Given the description of an element on the screen output the (x, y) to click on. 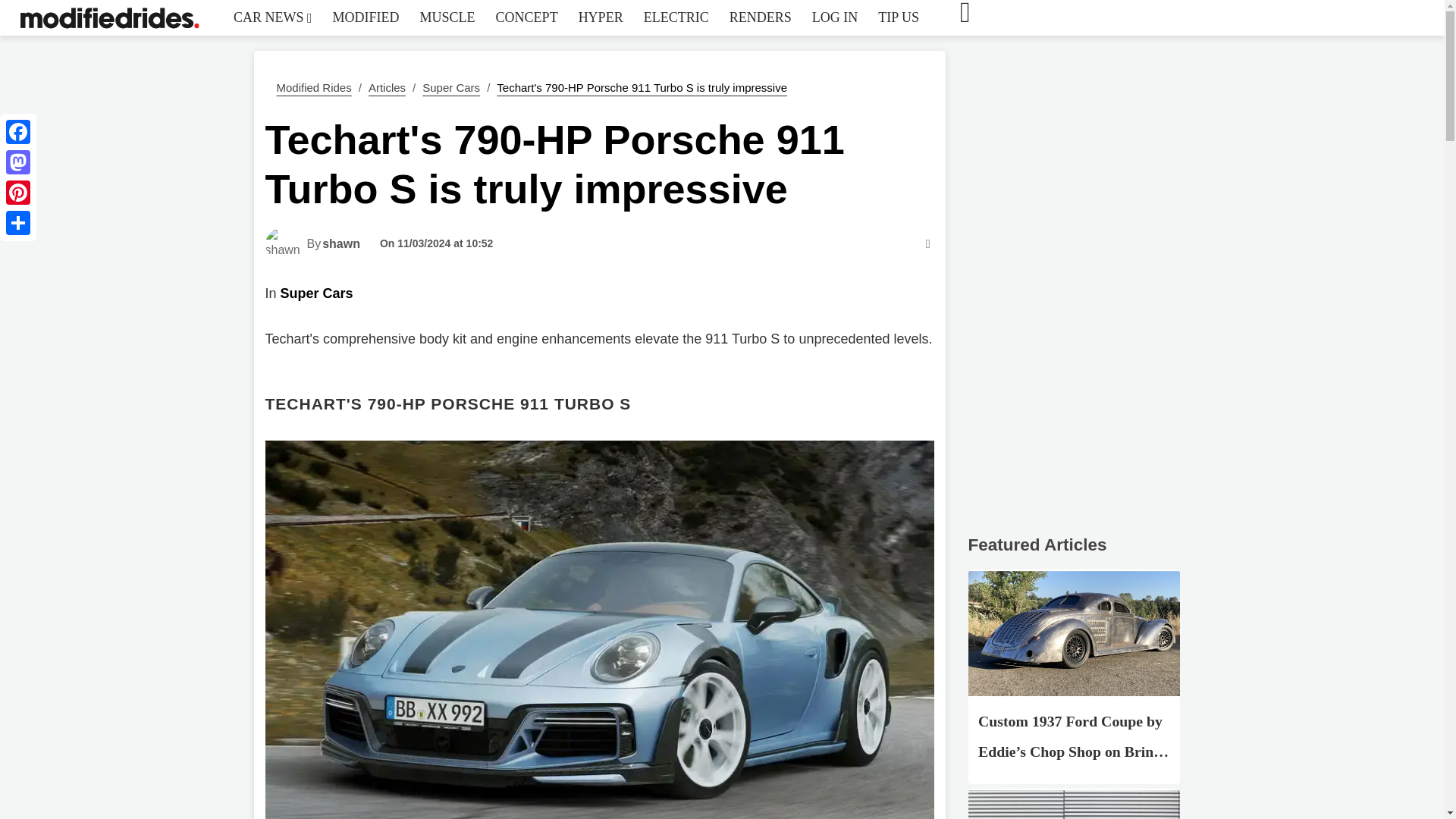
ELECTRIC (676, 17)
MODIFIED (366, 17)
HYPER (601, 17)
LOG IN (834, 17)
Super Cars (451, 87)
Modified Rides (313, 87)
CONCEPT (526, 17)
TIP US (898, 17)
CAR NEWS (272, 17)
RENDERS (759, 17)
Articles (387, 87)
MUSCLE (447, 17)
